Given the description of an element on the screen output the (x, y) to click on. 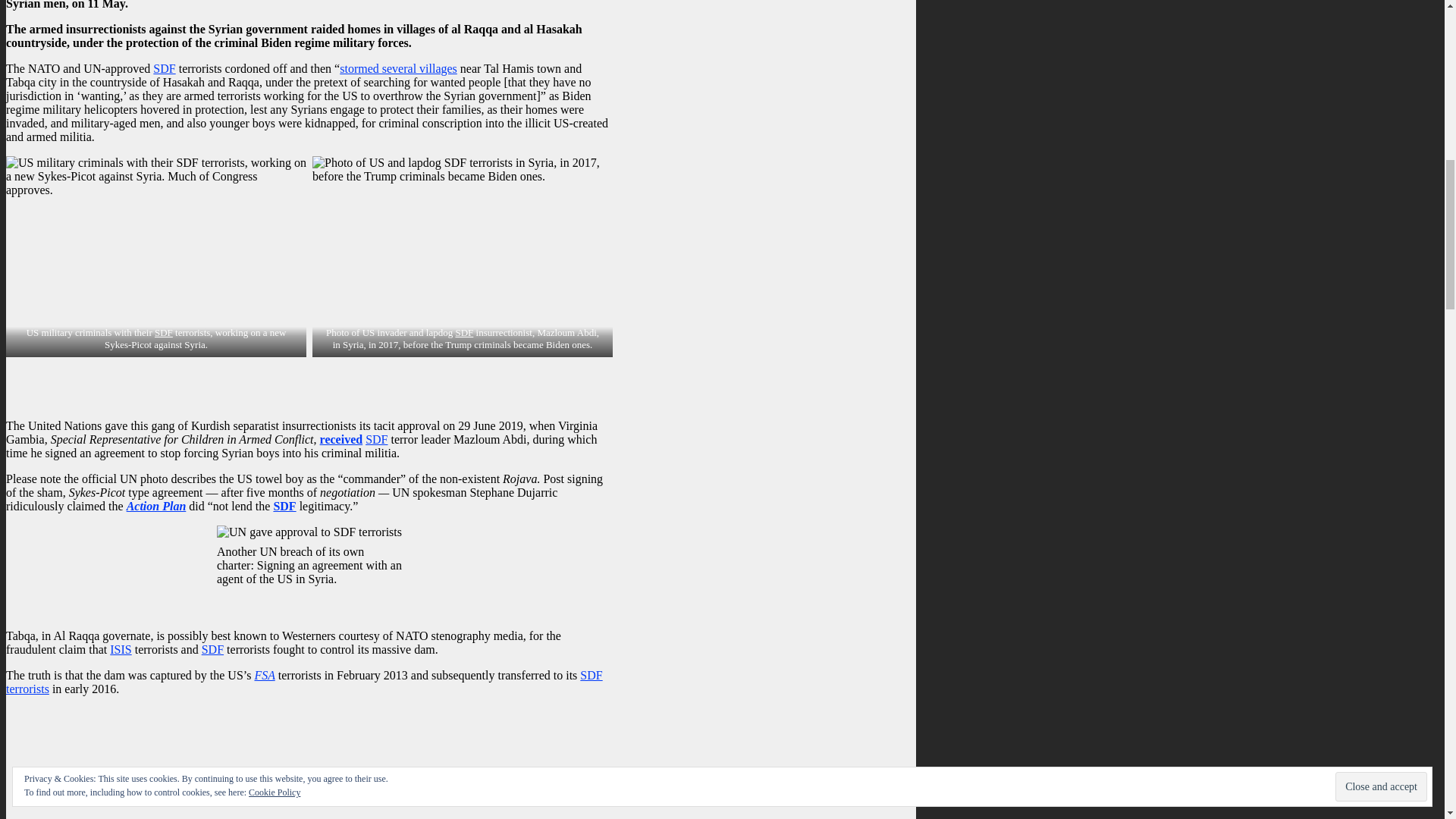
A US-sponsored separatist Kurdish militia. (463, 332)
SDF terrorists (303, 682)
A US-sponsored separatist Kurdish militia. (376, 439)
SDF (463, 332)
SDF (163, 68)
SDF (213, 649)
VideoPress Video Player (308, 763)
SDF (284, 505)
stormed several villages (398, 68)
Action Plan (156, 505)
